Given the description of an element on the screen output the (x, y) to click on. 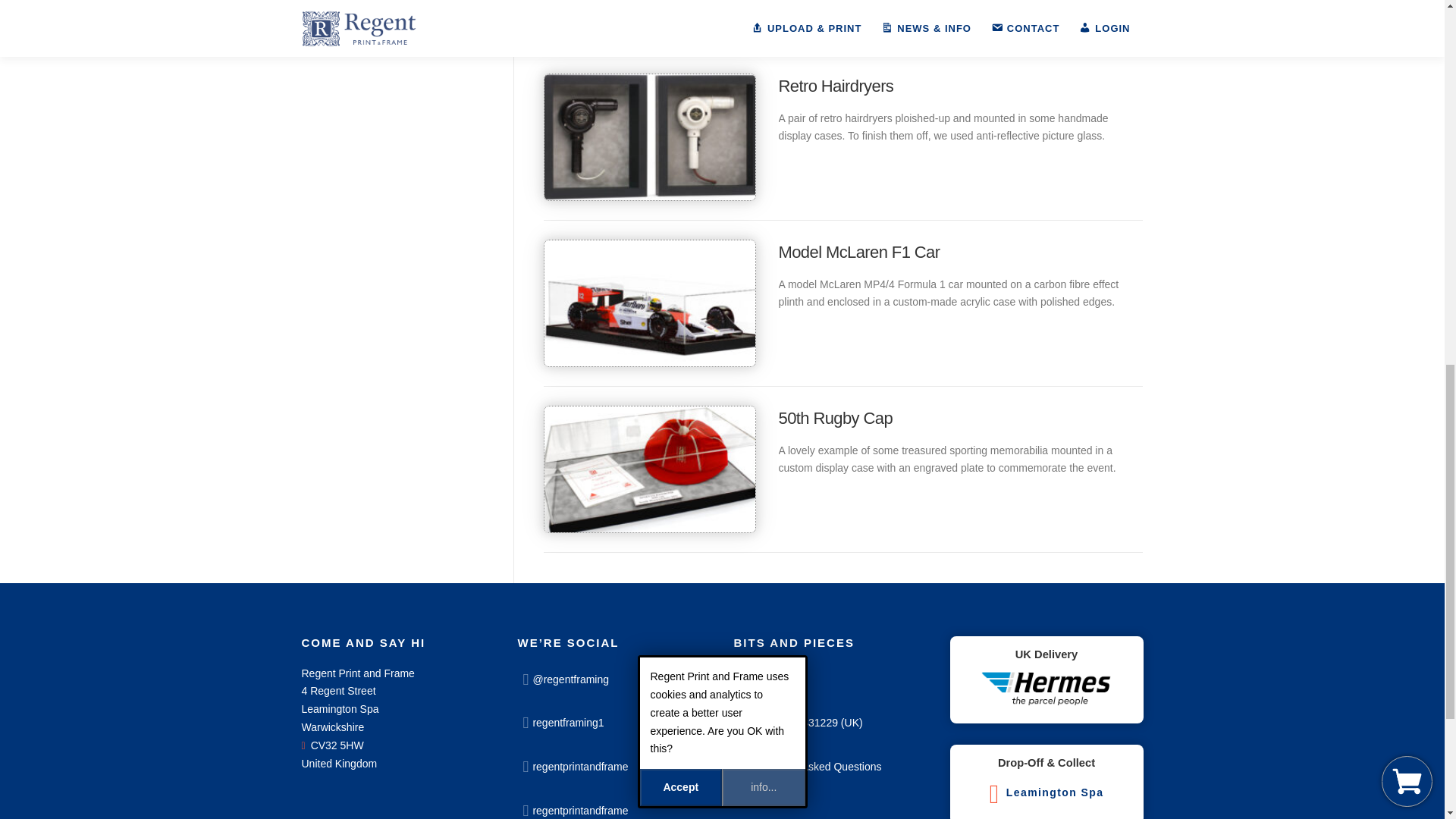
Contact Us (830, 678)
Model McLaren F1 Car (858, 251)
regentprintandframe (613, 805)
regentprintandframe (613, 765)
UK-wide delivery with Hermes (1045, 688)
CV32 5HW (332, 745)
Frequently Asked Questions (830, 765)
regentframing1 (613, 721)
50th Rugby Cap (834, 417)
Retro Hairdryers (835, 85)
